Given the description of an element on the screen output the (x, y) to click on. 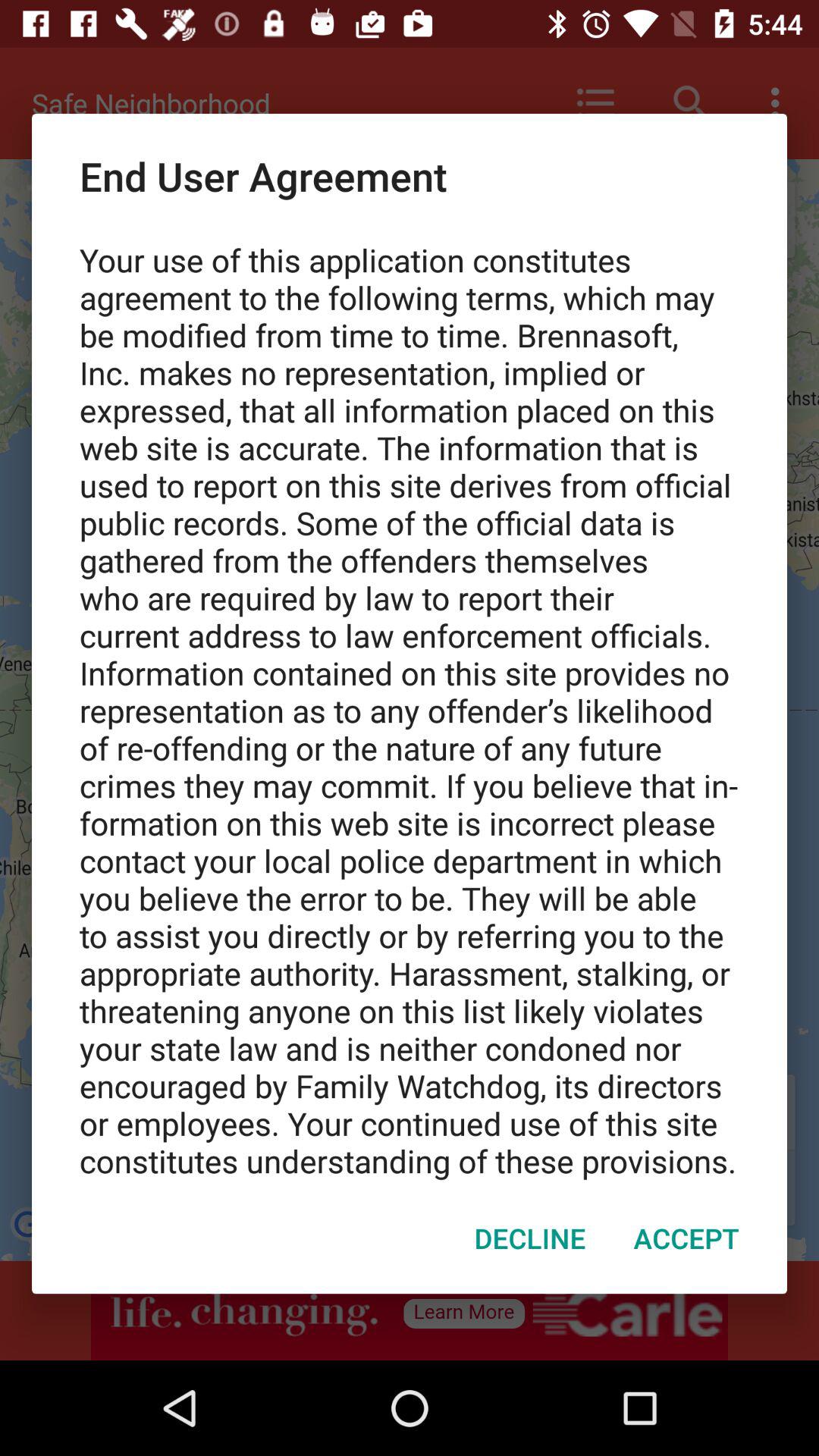
turn on item next to accept (529, 1237)
